Given the description of an element on the screen output the (x, y) to click on. 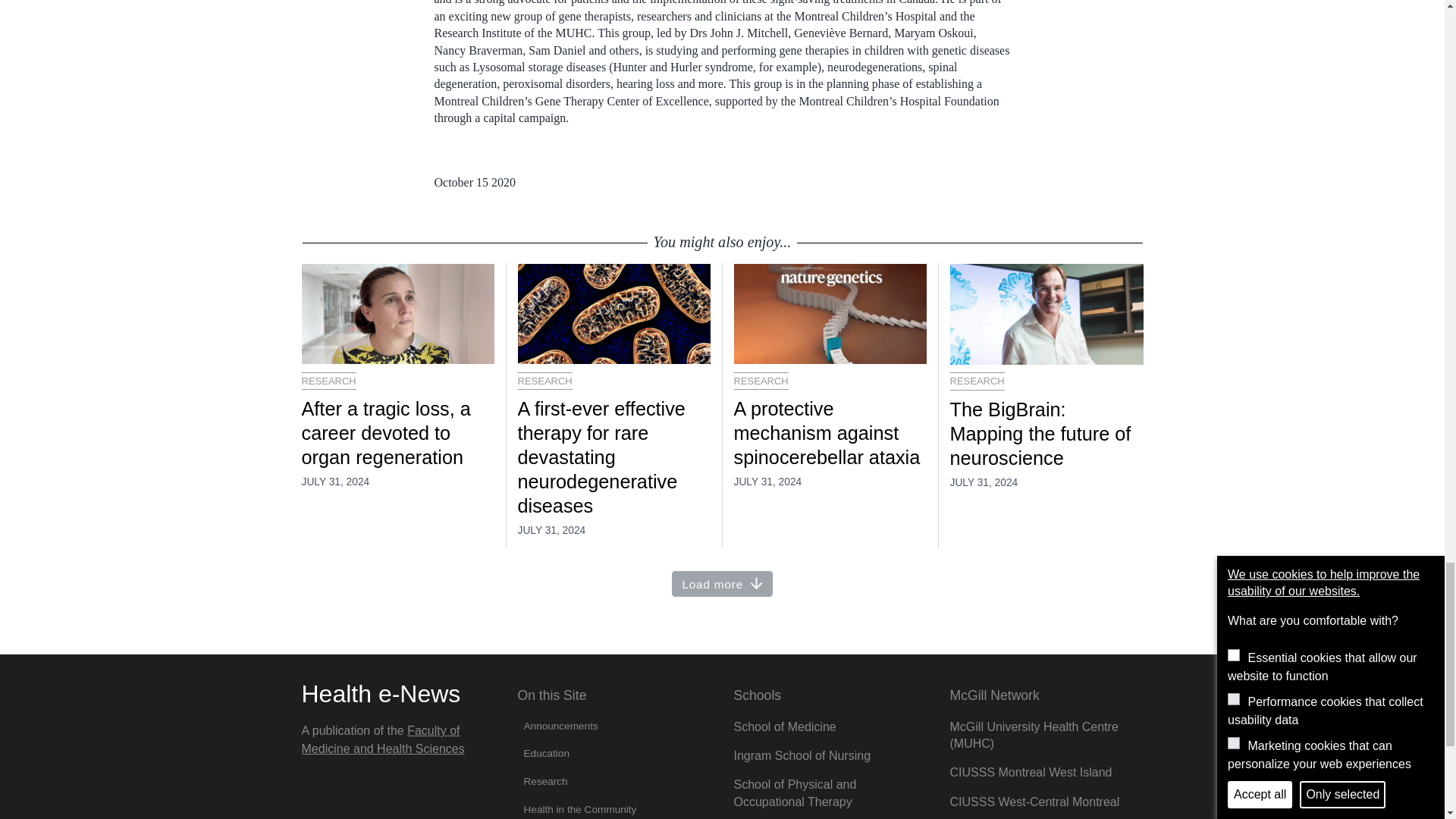
Faculty of Medicine and Health Sciences (382, 739)
Home (381, 693)
RESEARCH (328, 381)
Health e-News (381, 693)
RESEARCH (544, 381)
The BigBrain: Mapping the future of neuroscience (1045, 434)
After a tragic loss, a career devoted to organ regeneration (398, 433)
RESEARCH (976, 381)
RESEARCH (761, 381)
